Given the description of an element on the screen output the (x, y) to click on. 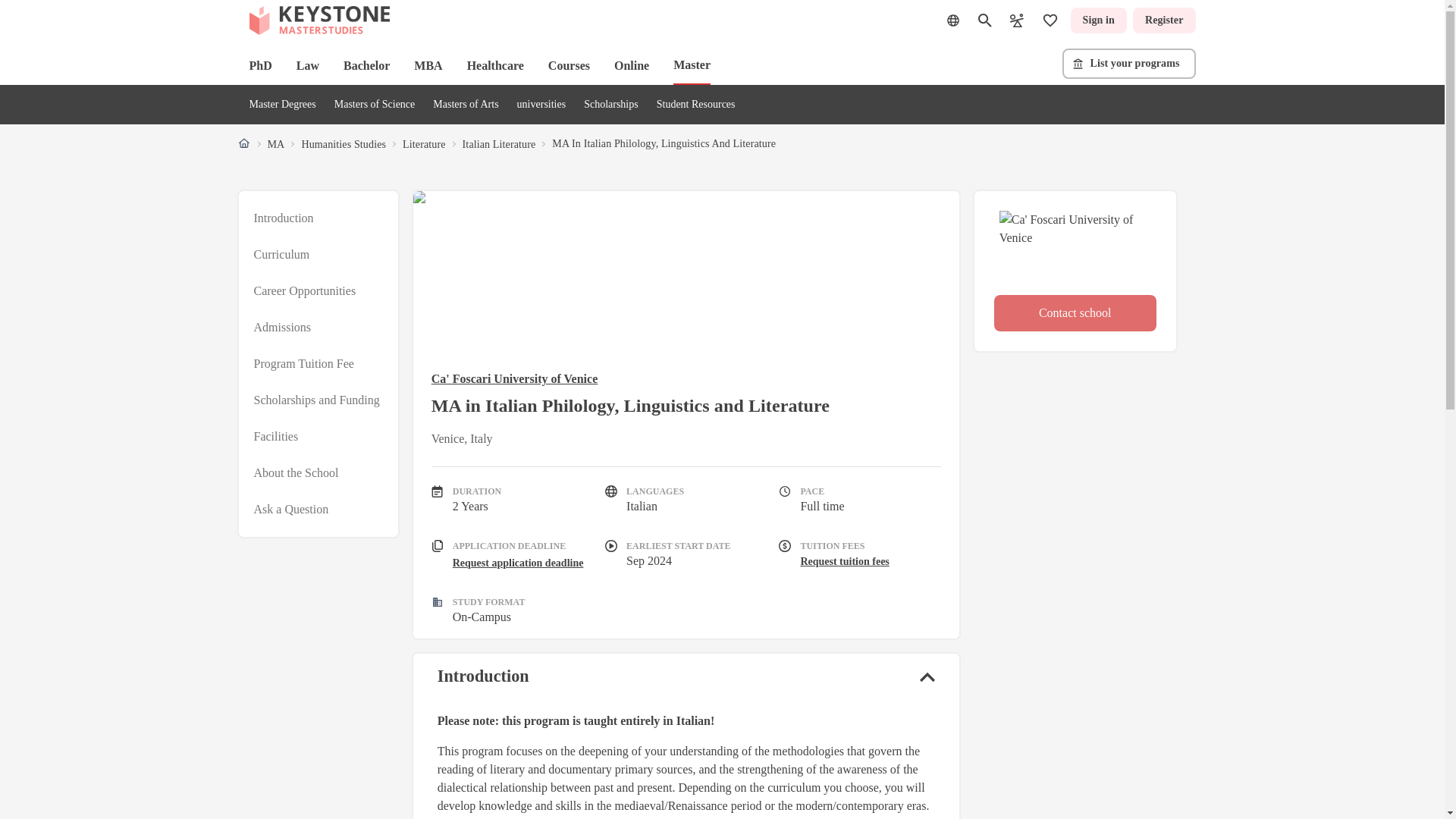
Program Tuition Fee (303, 363)
Master (691, 65)
Masters of Science (374, 103)
List your programs (1128, 63)
Admissions (282, 327)
Ask a Question (291, 509)
Introduction (283, 218)
Bachelor (366, 65)
universities (541, 103)
About the School (295, 473)
